Given the description of an element on the screen output the (x, y) to click on. 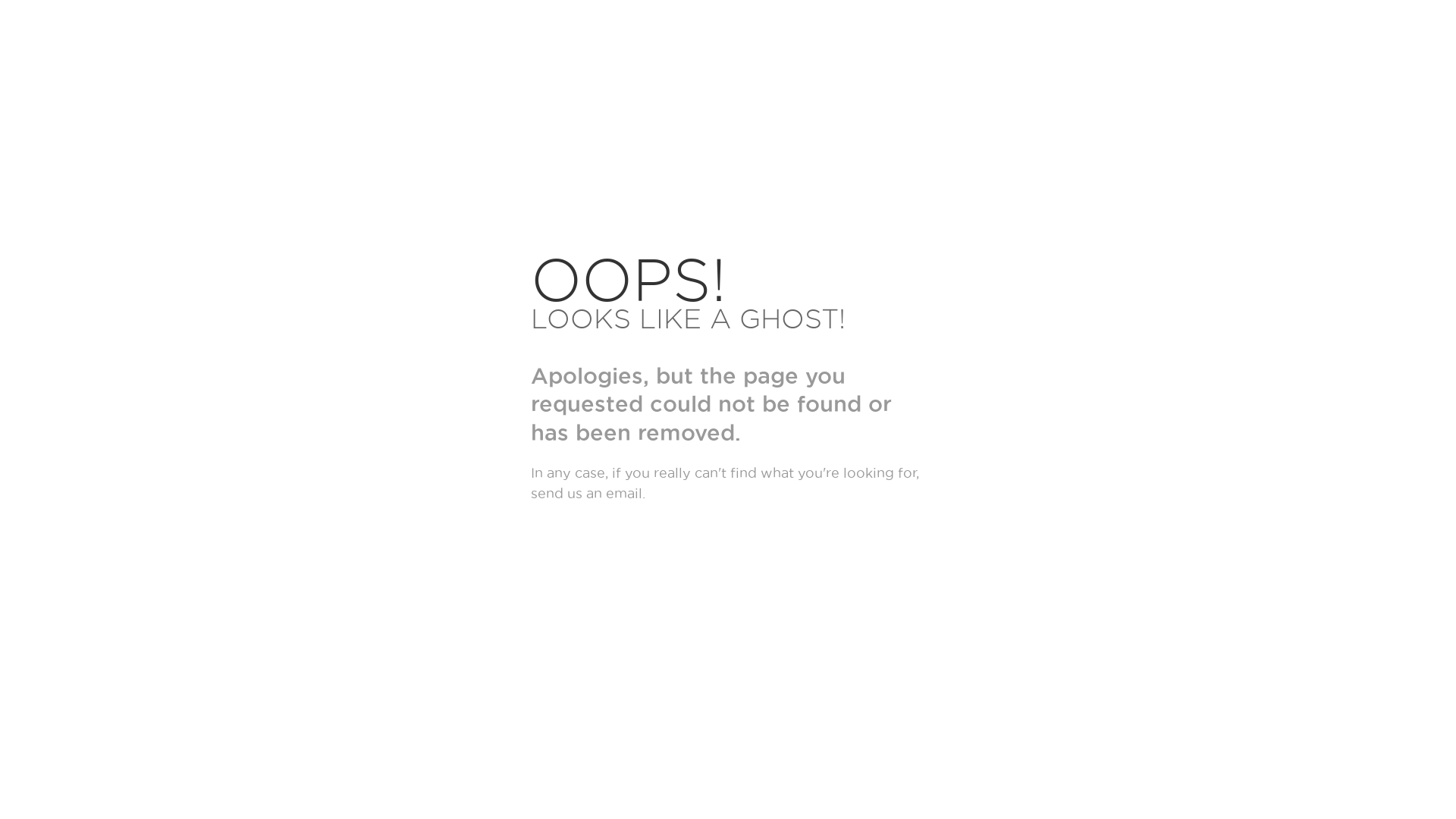
CONTINUE TO HOMEPAGE Element type: text (653, 548)
